Given the description of an element on the screen output the (x, y) to click on. 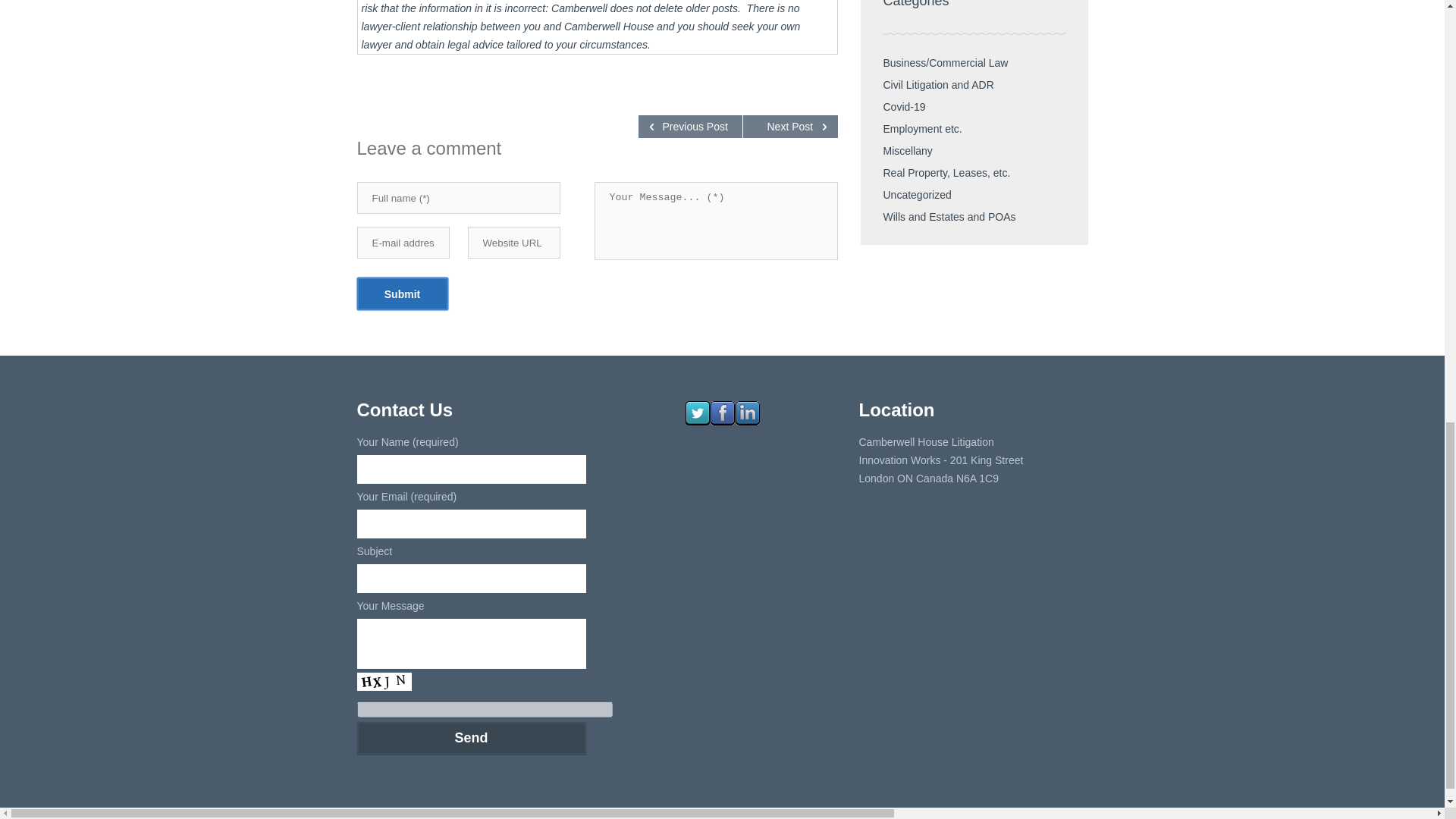
Submit (401, 293)
Submit (401, 293)
Send (470, 737)
Visit Us On Twitter (696, 421)
Previous Post (690, 126)
Visit Us On Facebook (722, 421)
Next Post (790, 126)
Visit Us On Linkedin (745, 421)
